Given the description of an element on the screen output the (x, y) to click on. 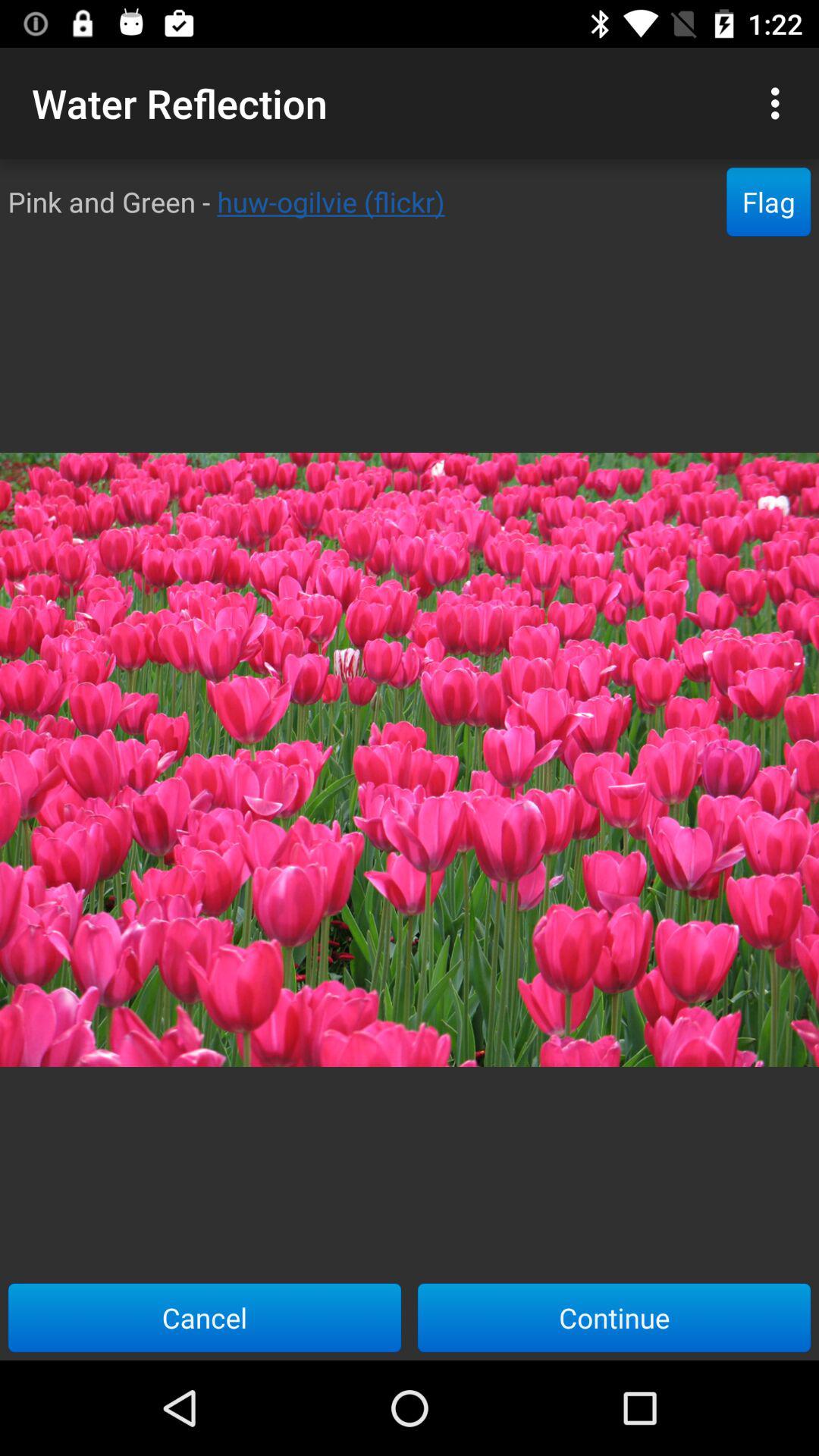
flip until the continue icon (614, 1317)
